Given the description of an element on the screen output the (x, y) to click on. 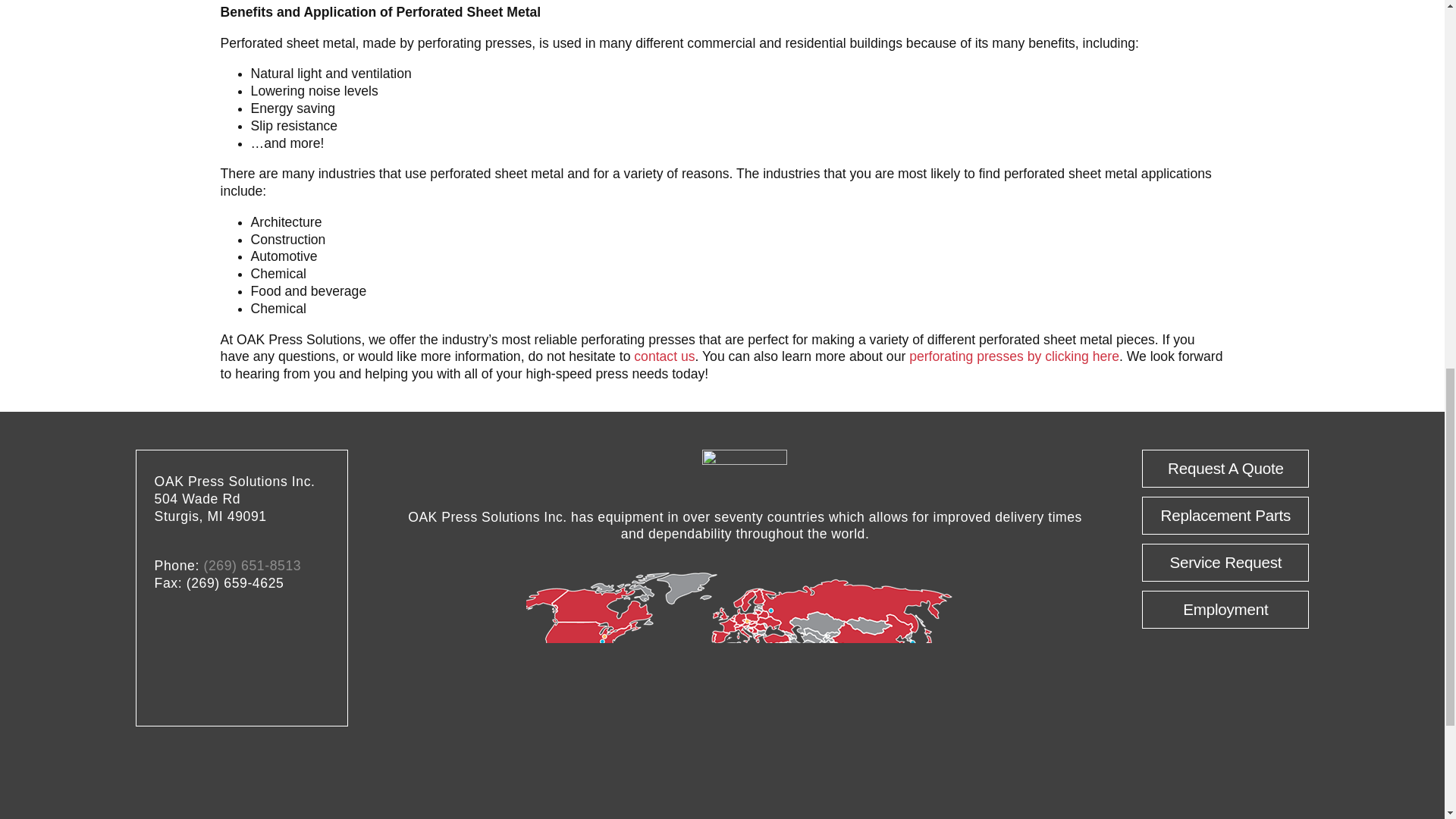
Request A Quote (1224, 468)
Replacement Parts (1224, 515)
perforating presses by clicking here (1013, 355)
Service Request (1224, 562)
Employment (1224, 609)
contact us (663, 355)
